Given the description of an element on the screen output the (x, y) to click on. 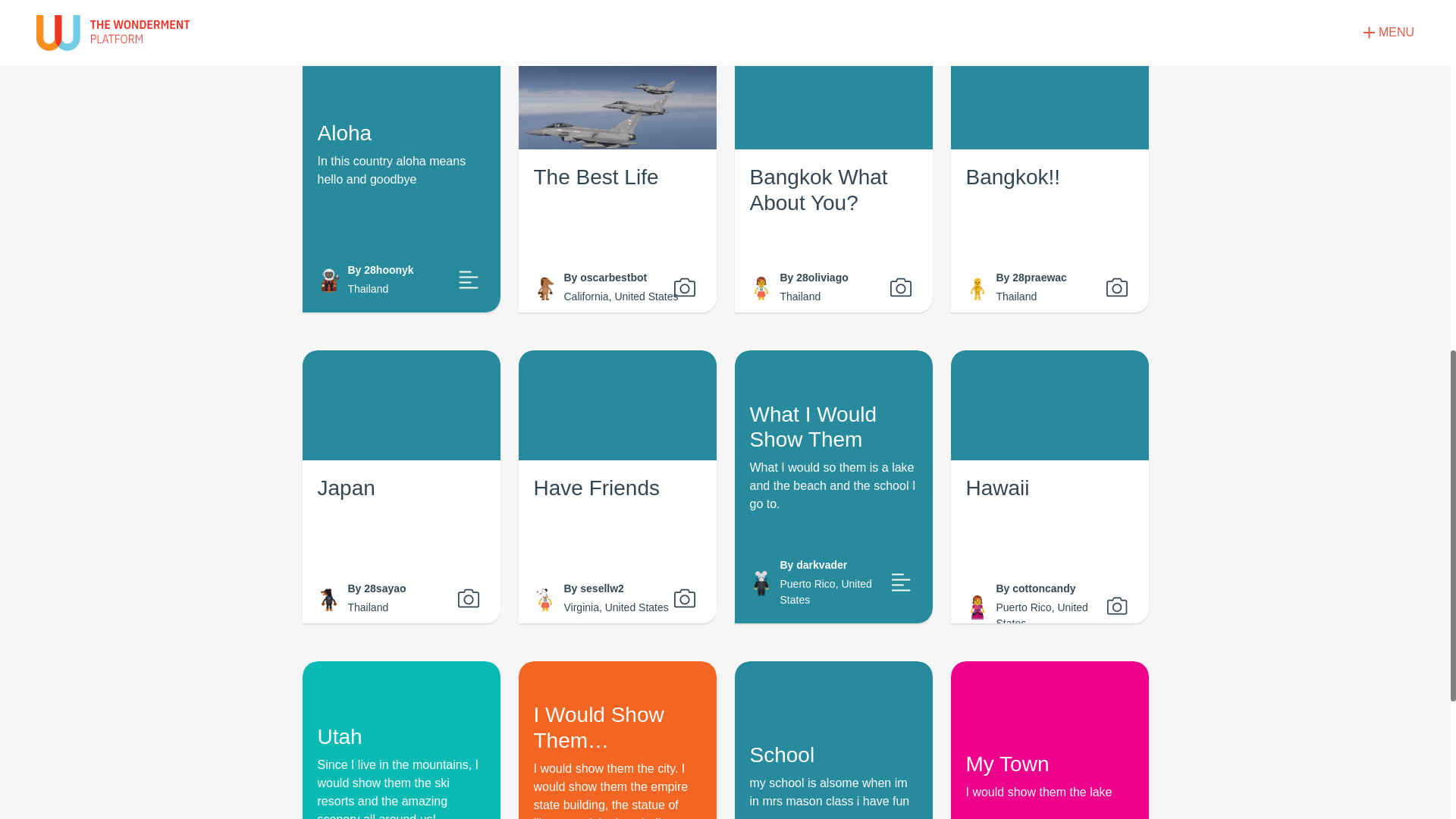
JOIN TO ADD TO THIS PATH (724, 2)
